Given the description of an element on the screen output the (x, y) to click on. 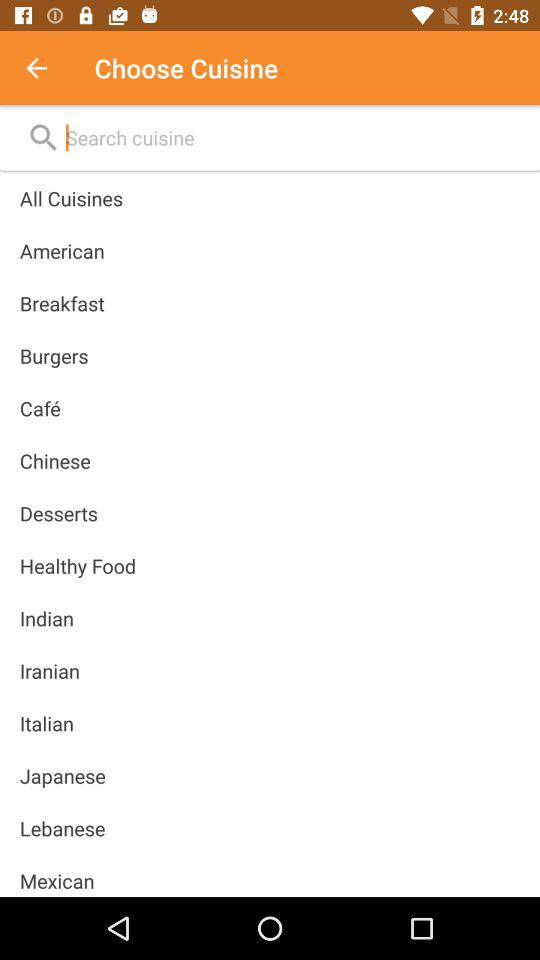
turn on the item above lebanese (62, 775)
